Given the description of an element on the screen output the (x, y) to click on. 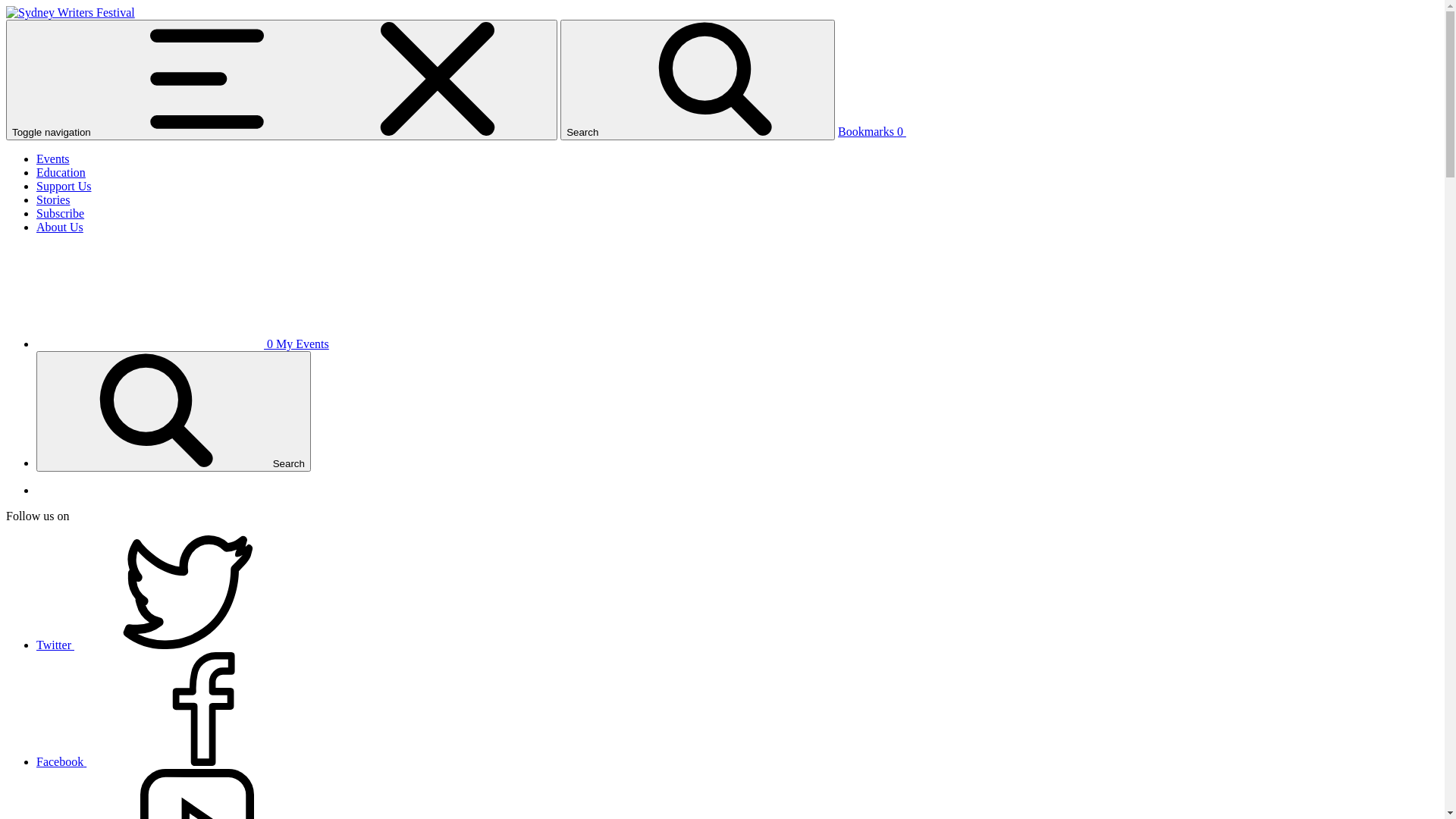
Facebook Element type: text (174, 761)
Twitter Element type: text (168, 644)
About Us Element type: text (59, 226)
Search Element type: text (173, 411)
Toggle navigation Element type: text (281, 79)
Search Element type: text (697, 79)
0 My Events Element type: text (182, 343)
Stories Element type: text (52, 199)
Subscribe Element type: text (60, 213)
Support Us Element type: text (63, 185)
Bookmarks 0 Element type: text (985, 131)
Education Element type: text (60, 172)
Events Element type: text (52, 158)
